Given the description of an element on the screen output the (x, y) to click on. 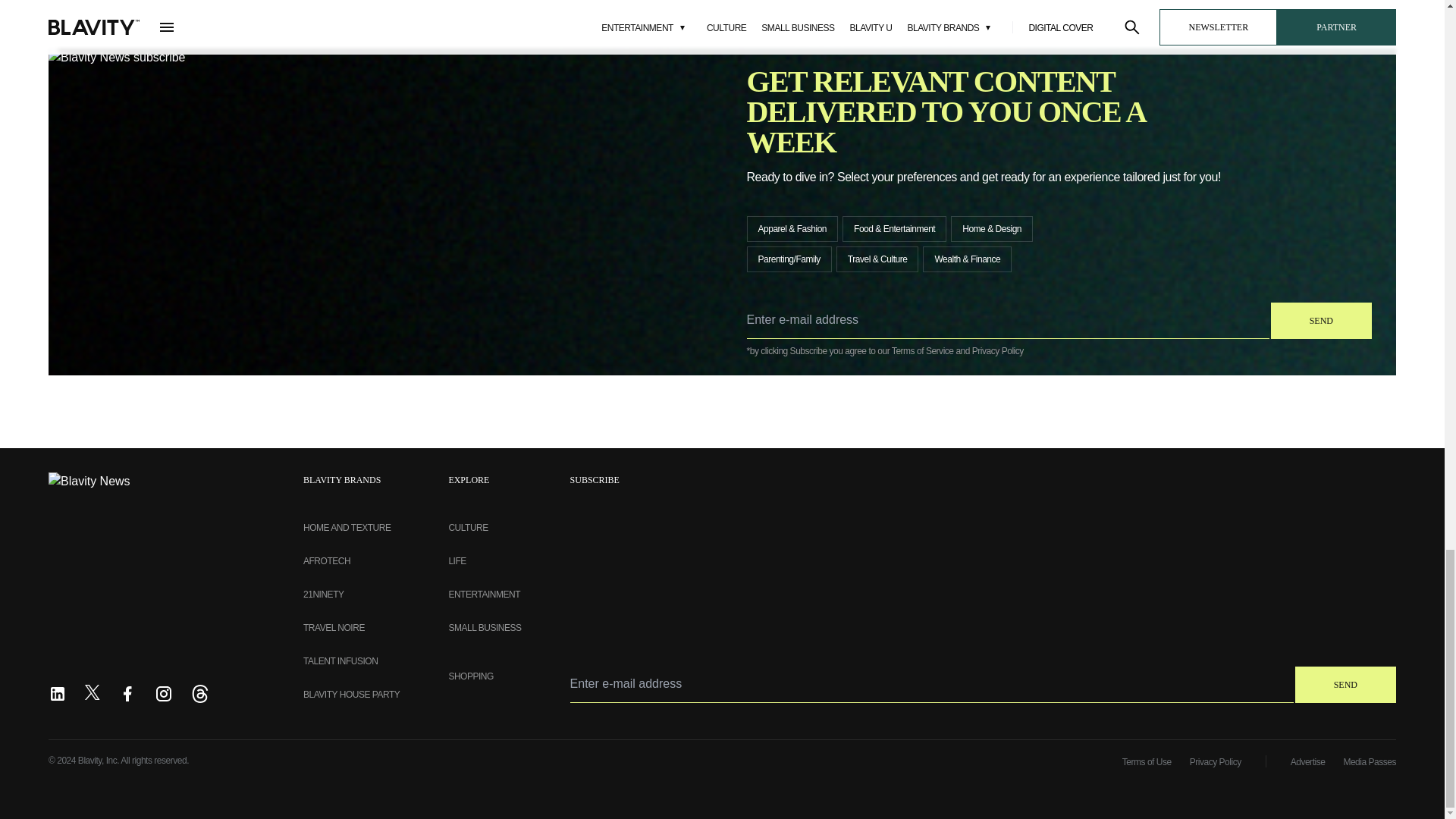
send (1345, 684)
Blavity News logo (93, 479)
send (1321, 320)
